Given the description of an element on the screen output the (x, y) to click on. 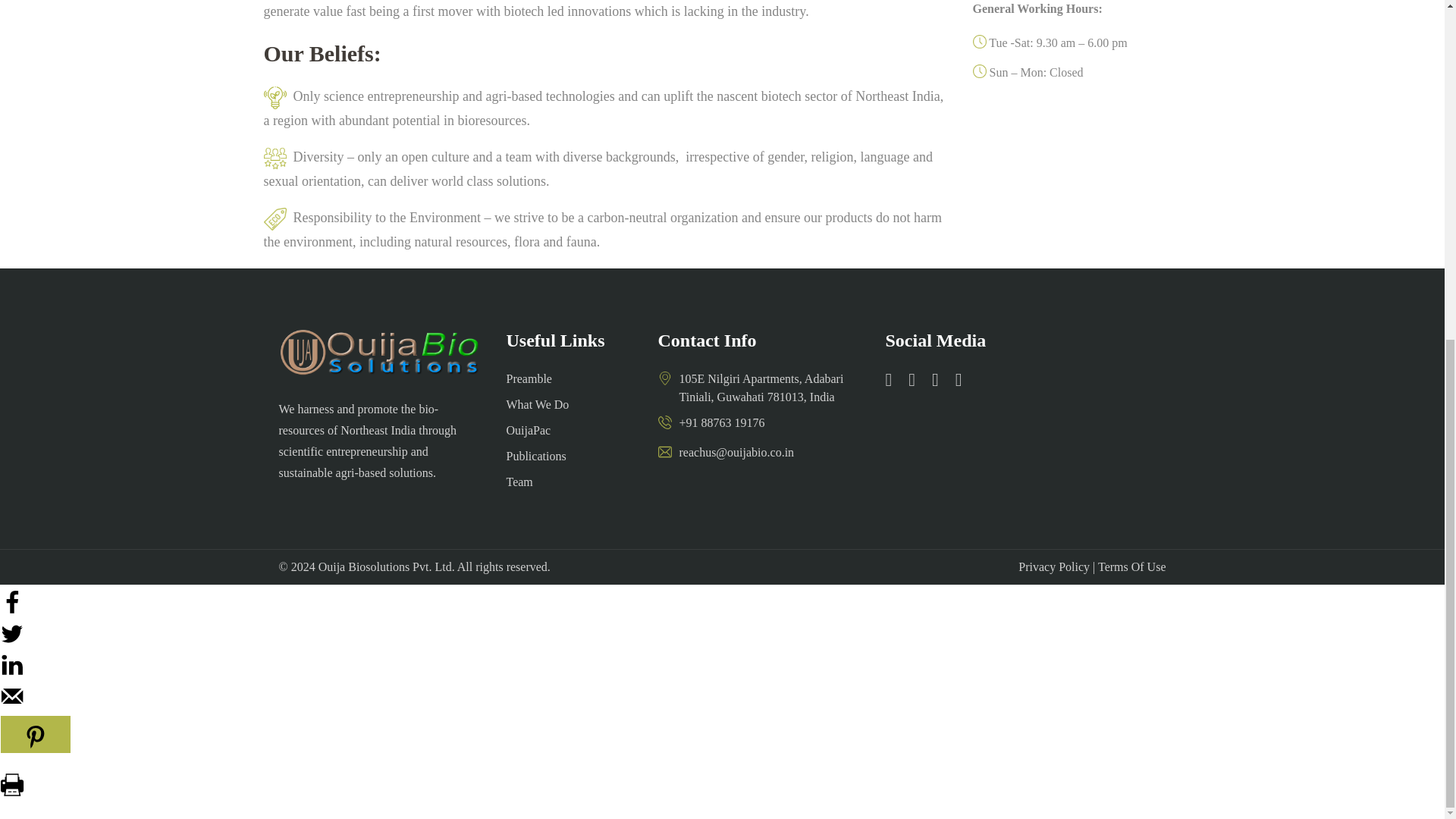
Send over email (12, 703)
Publications (536, 455)
What We Do (537, 404)
Save to Pinterest (35, 733)
Print this webpage (12, 792)
OuijaPac (528, 430)
Team (519, 481)
Share on Facebook (12, 610)
Share on Twitter (12, 641)
Share on LinkedIn (12, 672)
Preamble (528, 378)
